Given the description of an element on the screen output the (x, y) to click on. 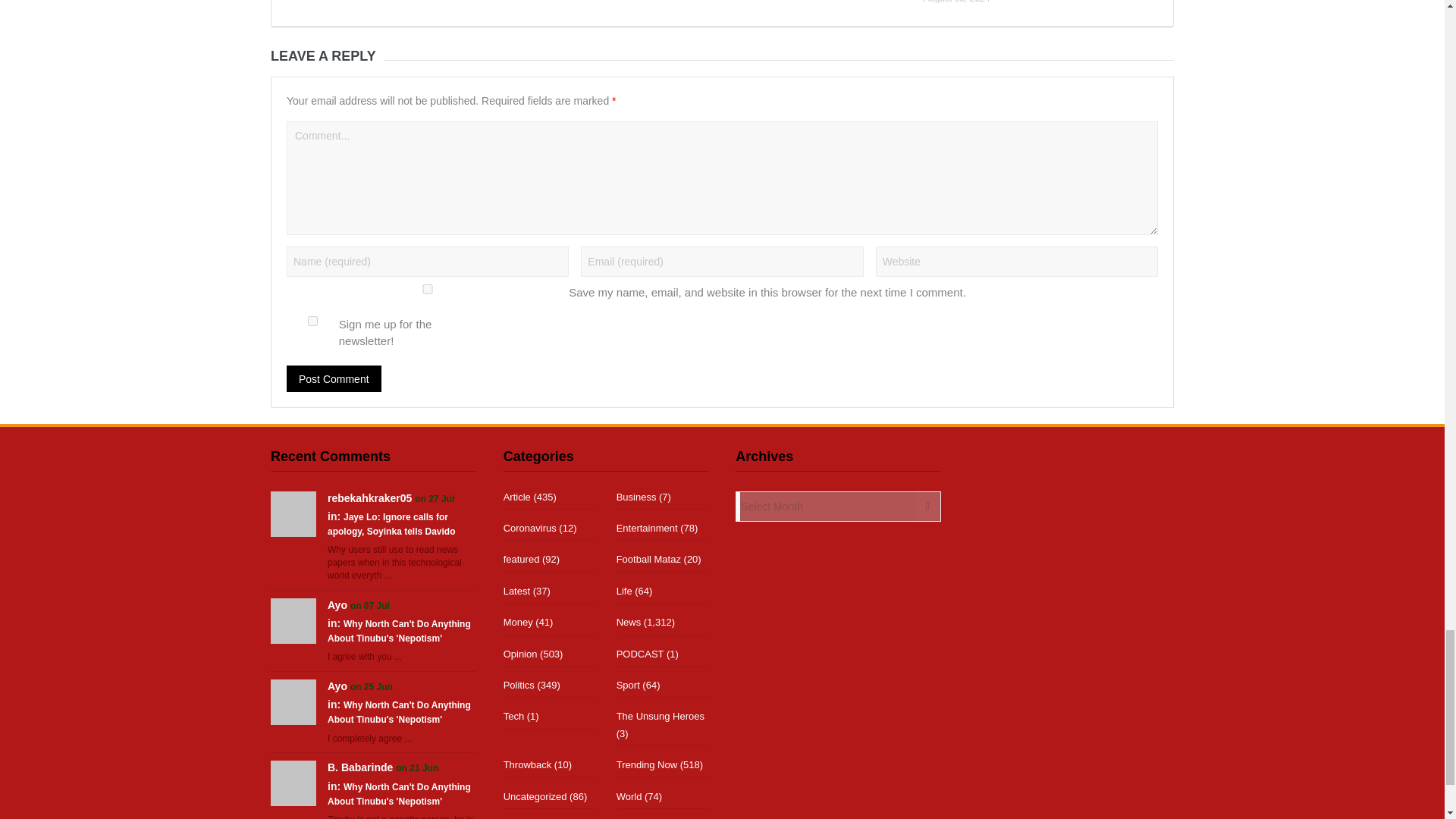
Ayo on Why North Can't Do Anything About Tinubu's 'Nepotism' (292, 619)
yes (427, 289)
1 (312, 320)
Post Comment (333, 378)
